Given the description of an element on the screen output the (x, y) to click on. 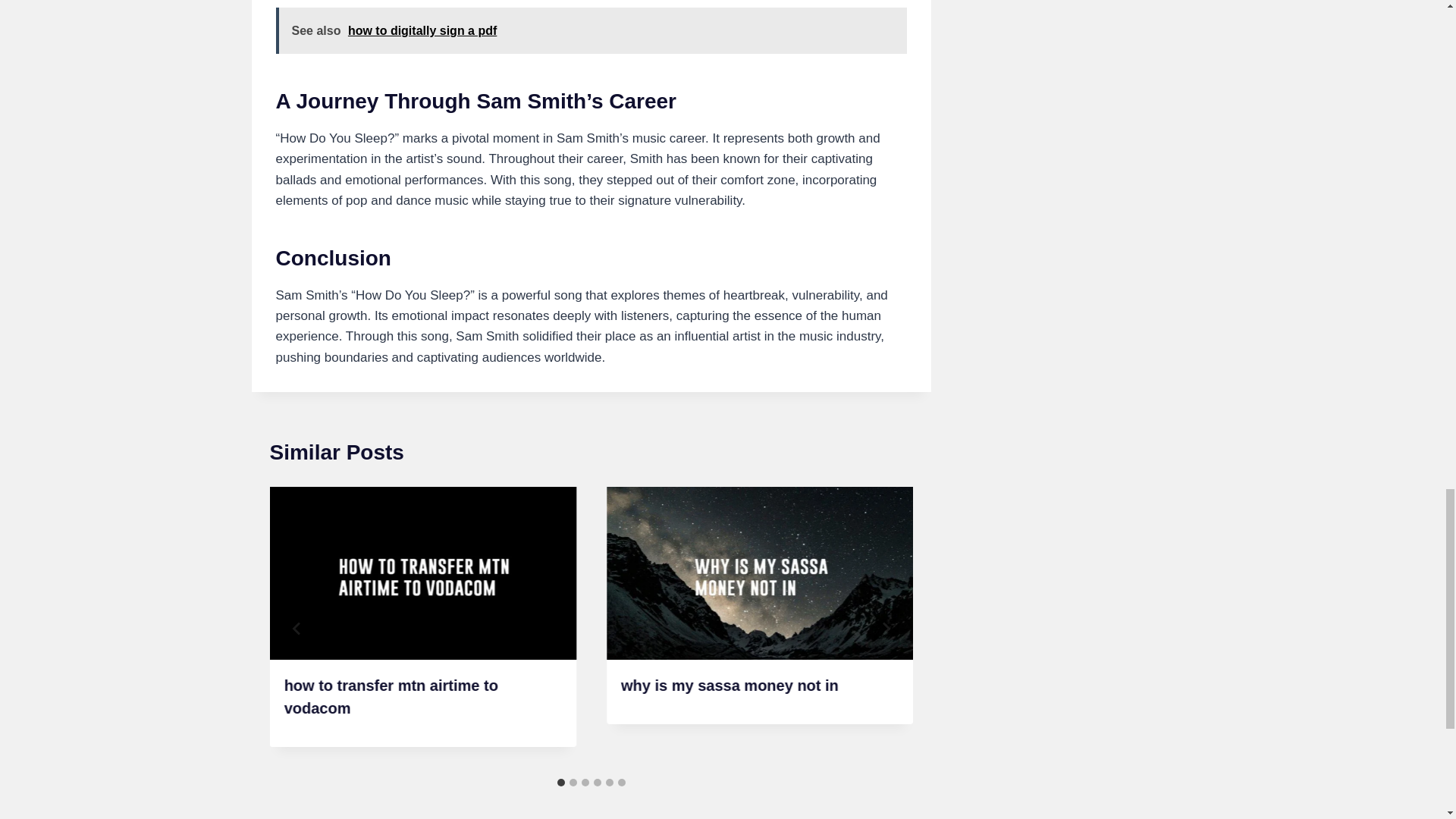
how to transfer mtn airtime to vodacom (390, 696)
See also  how to digitally sign a pdf (591, 30)
why is my sassa money not in (729, 685)
